Given the description of an element on the screen output the (x, y) to click on. 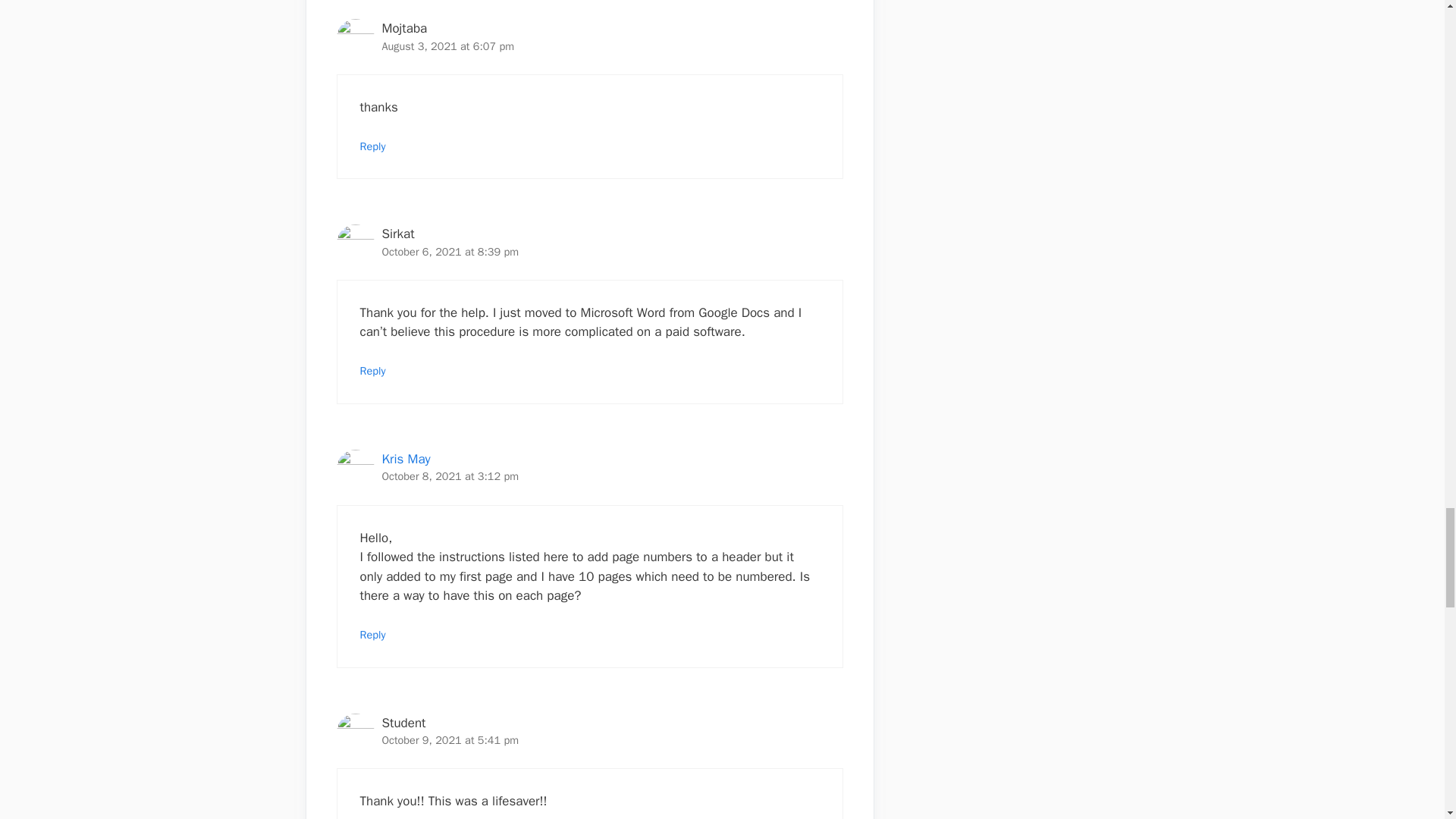
Reply (372, 146)
October 9, 2021 at 5:41 pm (450, 739)
Reply (372, 370)
October 6, 2021 at 8:39 pm (450, 251)
October 8, 2021 at 3:12 pm (450, 476)
Kris May (405, 458)
Reply (372, 634)
August 3, 2021 at 6:07 pm (448, 46)
